Given the description of an element on the screen output the (x, y) to click on. 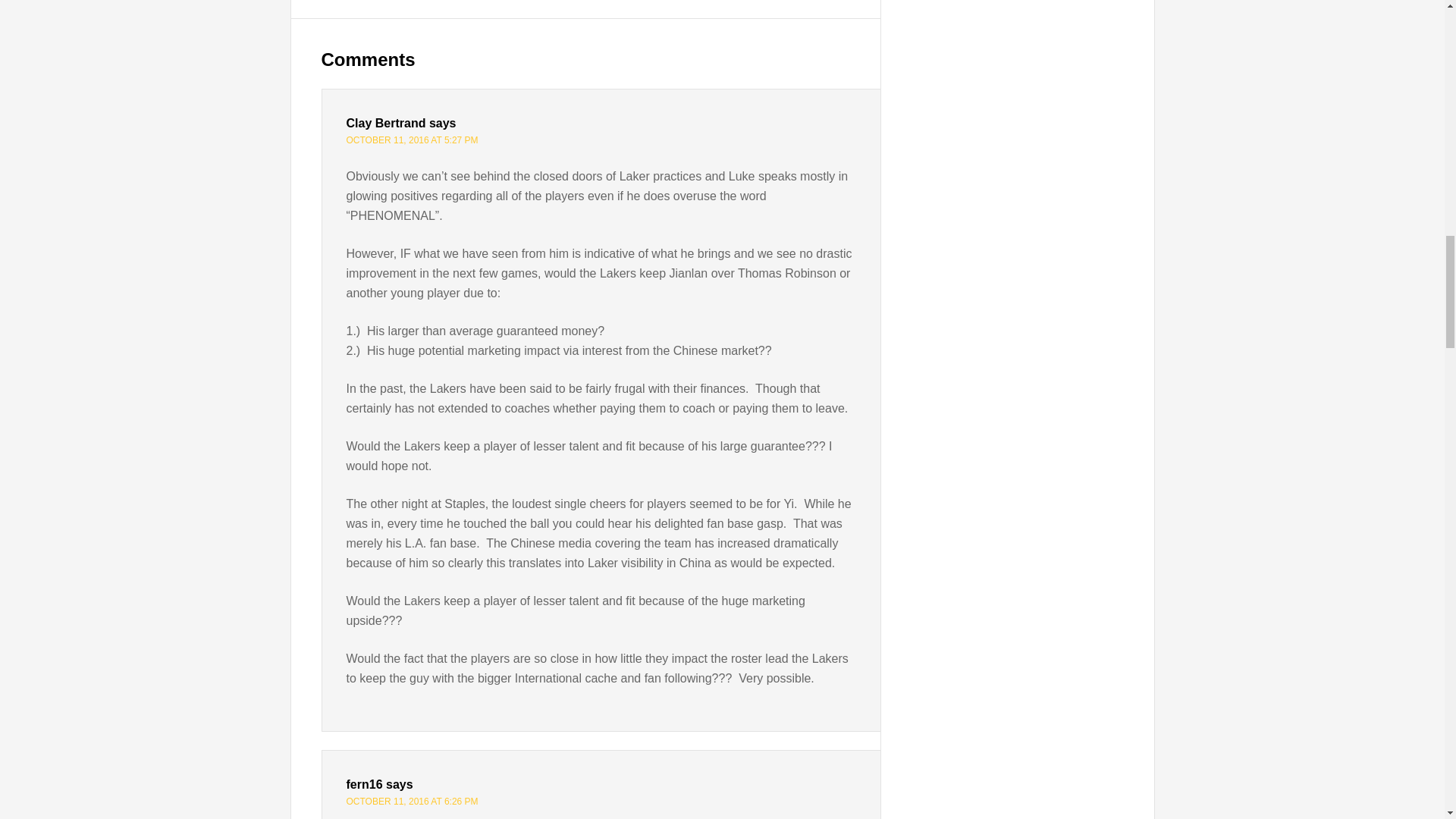
OCTOBER 11, 2016 AT 5:27 PM (411, 140)
OCTOBER 11, 2016 AT 6:26 PM (411, 801)
